Given the description of an element on the screen output the (x, y) to click on. 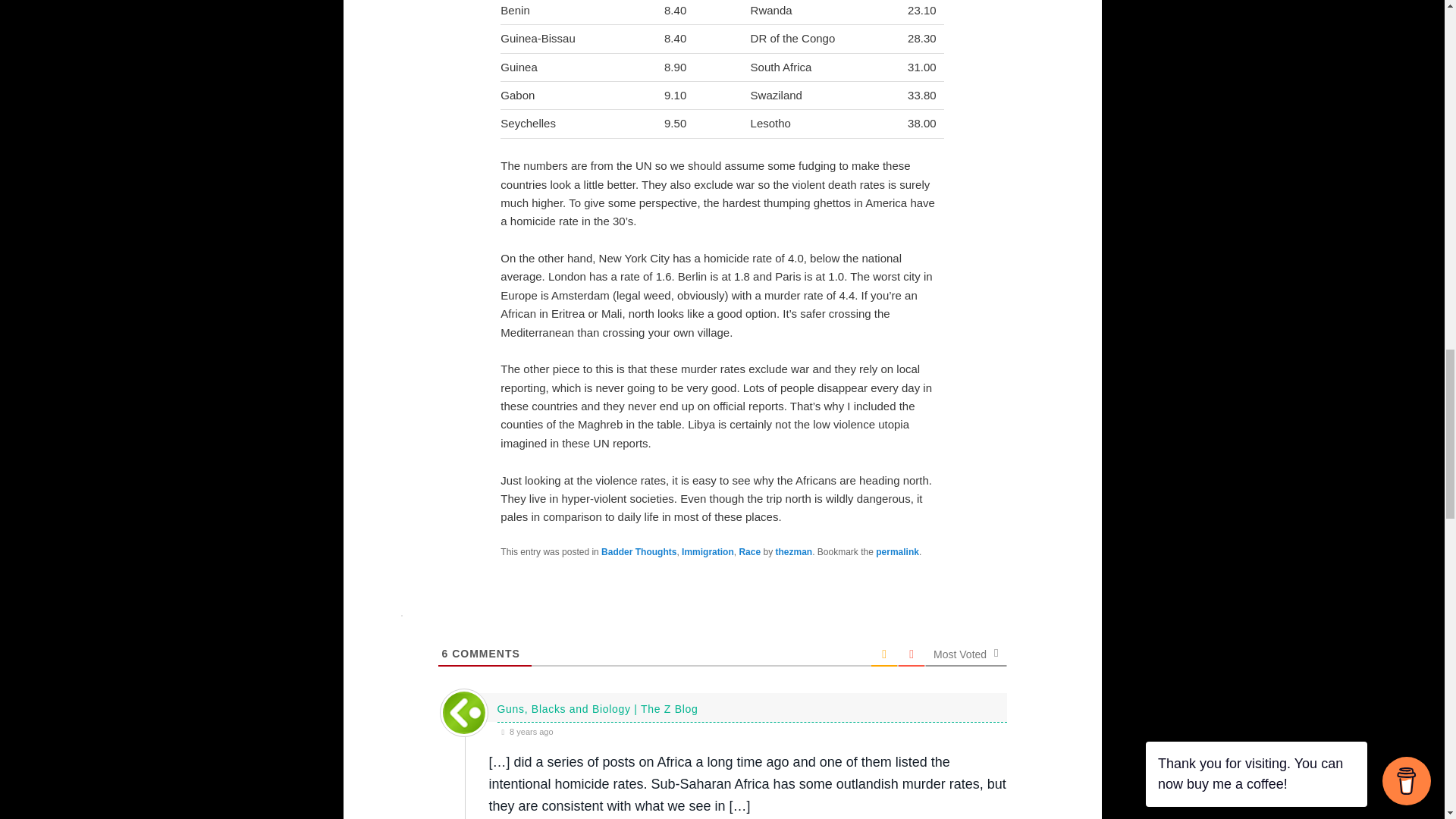
Race (749, 552)
Permalink to Africa: Murder Rates (897, 552)
thezman (793, 552)
October 4, 2015 8:44 pm (751, 731)
permalink (897, 552)
Immigration (707, 552)
Badder Thoughts (639, 552)
